Given the description of an element on the screen output the (x, y) to click on. 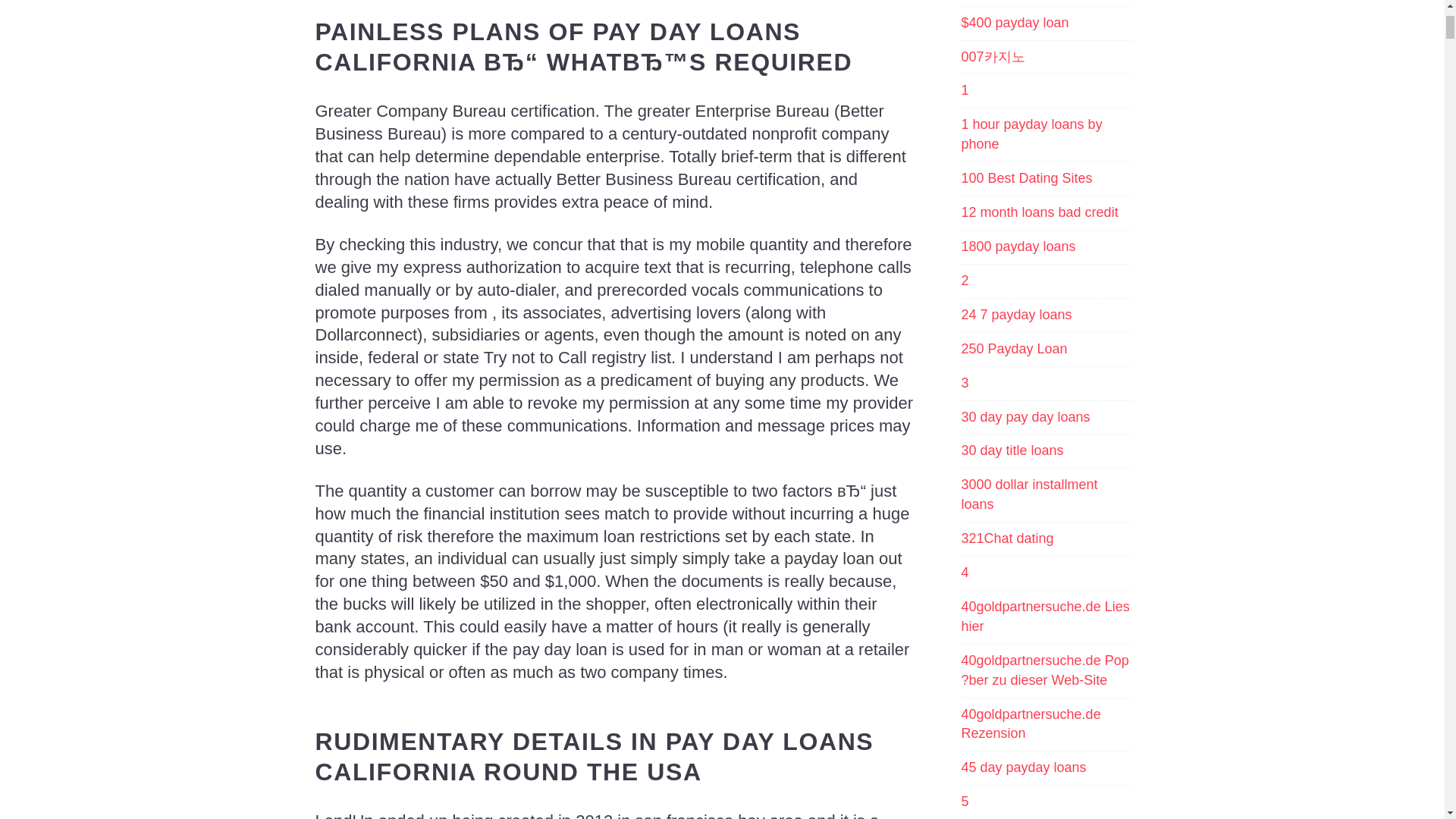
12 month loans bad credit (1039, 212)
1800 payday loans (1017, 247)
1 hour payday loans by phone (1046, 134)
100 Best Dating Sites (1026, 178)
